Given the description of an element on the screen output the (x, y) to click on. 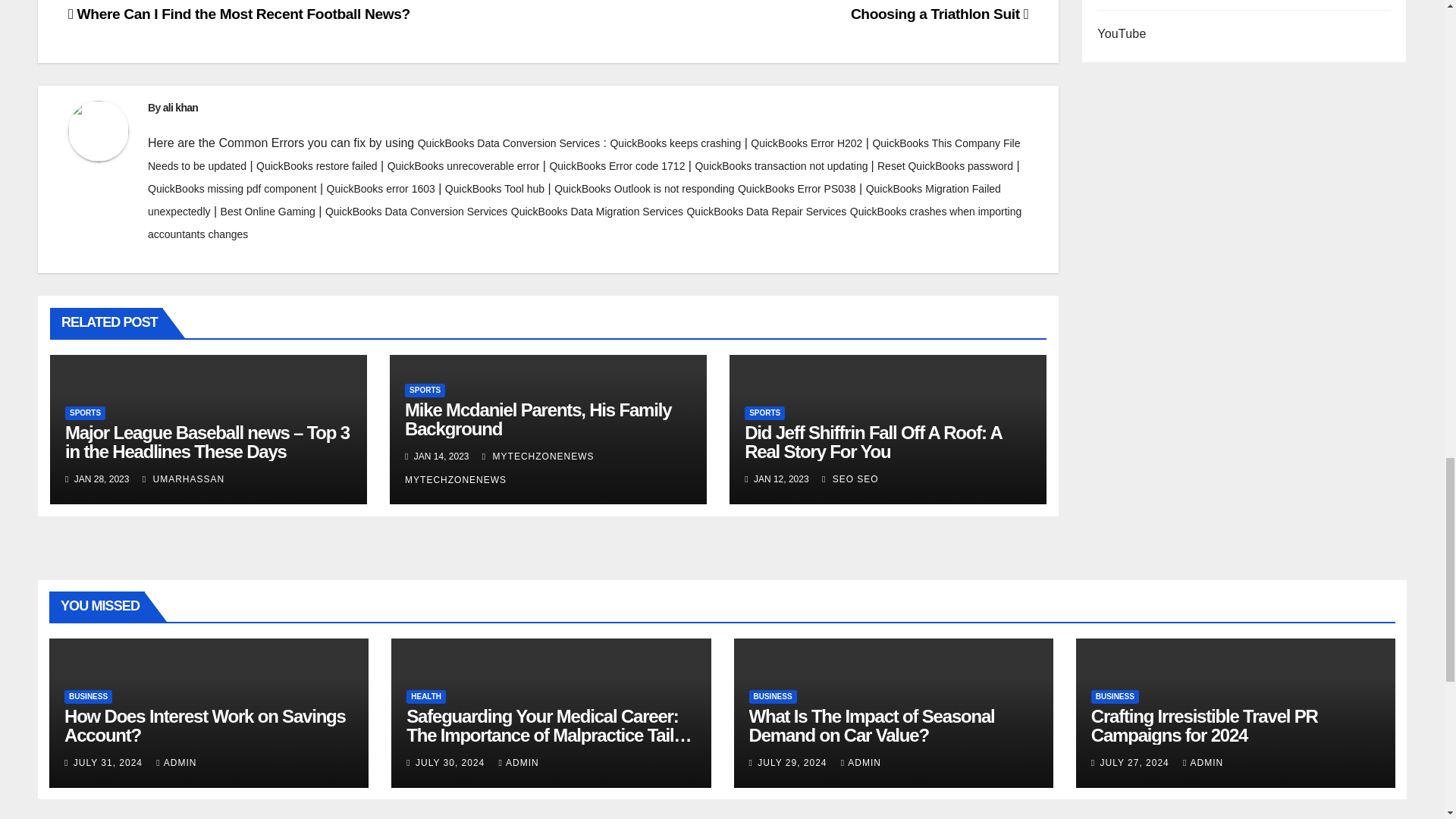
Permalink to: Mike Mcdaniel Parents, His Family Background (537, 418)
Choosing a Triathlon Suit (938, 13)
QuickBooks Error H202 (806, 143)
Where Can I Find the Most Recent Football News? (239, 13)
QuickBooks Data Conversion Services (508, 143)
Permalink to: How Does Interest Work on Savings Account? (205, 725)
QuickBooks keeps crashing (675, 143)
ali khan (180, 107)
